Given the description of an element on the screen output the (x, y) to click on. 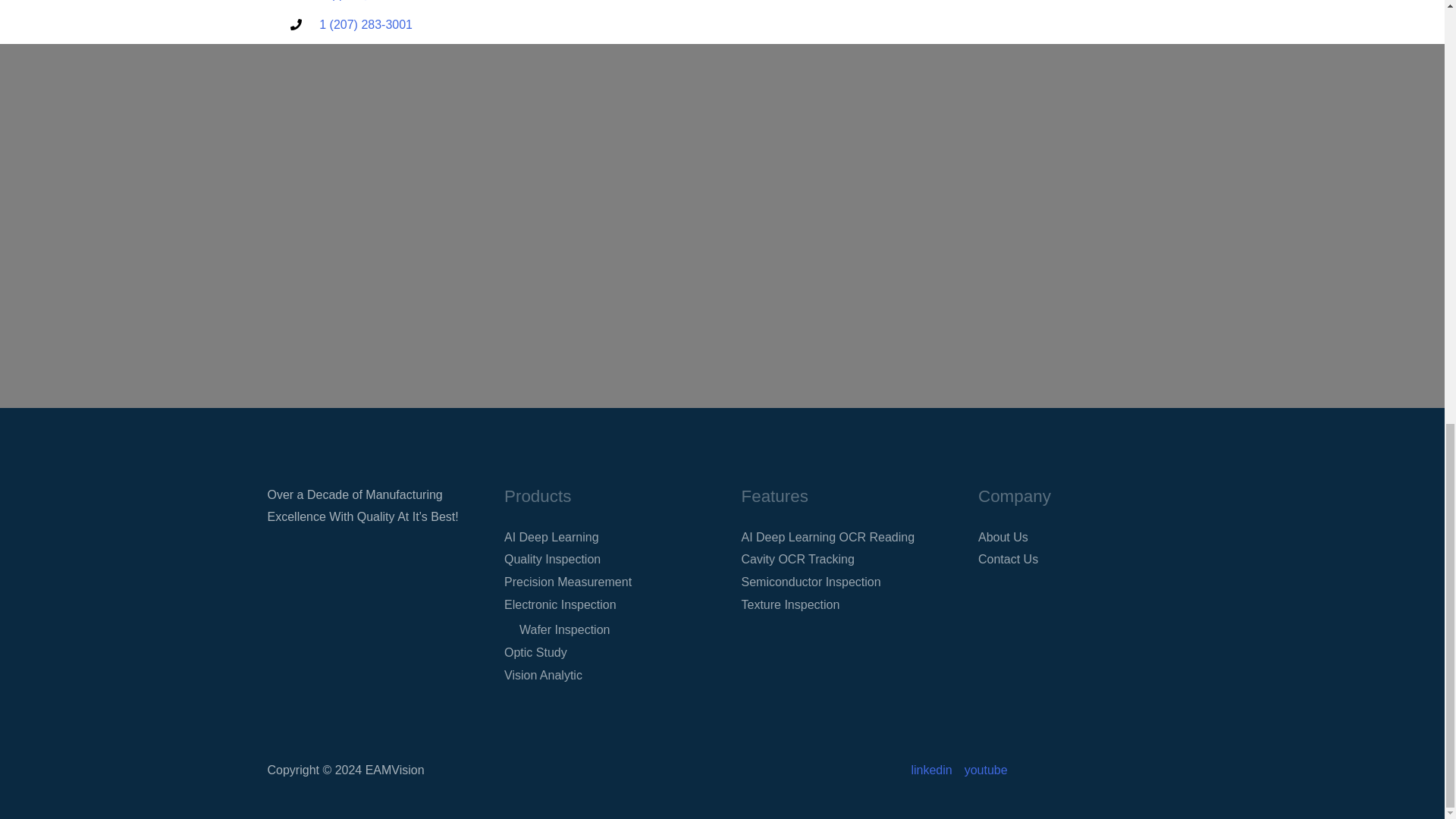
Wafer Inspection (564, 629)
Precision Measurement (567, 581)
Semiconductor Inspection (810, 581)
Vision Analytic (542, 675)
AI Deep Learning OCR Reading (828, 536)
Contact Us (1008, 558)
About Us (1002, 536)
Quality Inspection (551, 558)
Cavity OCR Tracking (797, 558)
Optic Study (535, 652)
Texture Inspection (790, 604)
Electronic Inspection (559, 604)
linkedin (934, 770)
AI Deep Learning (550, 536)
